Given the description of an element on the screen output the (x, y) to click on. 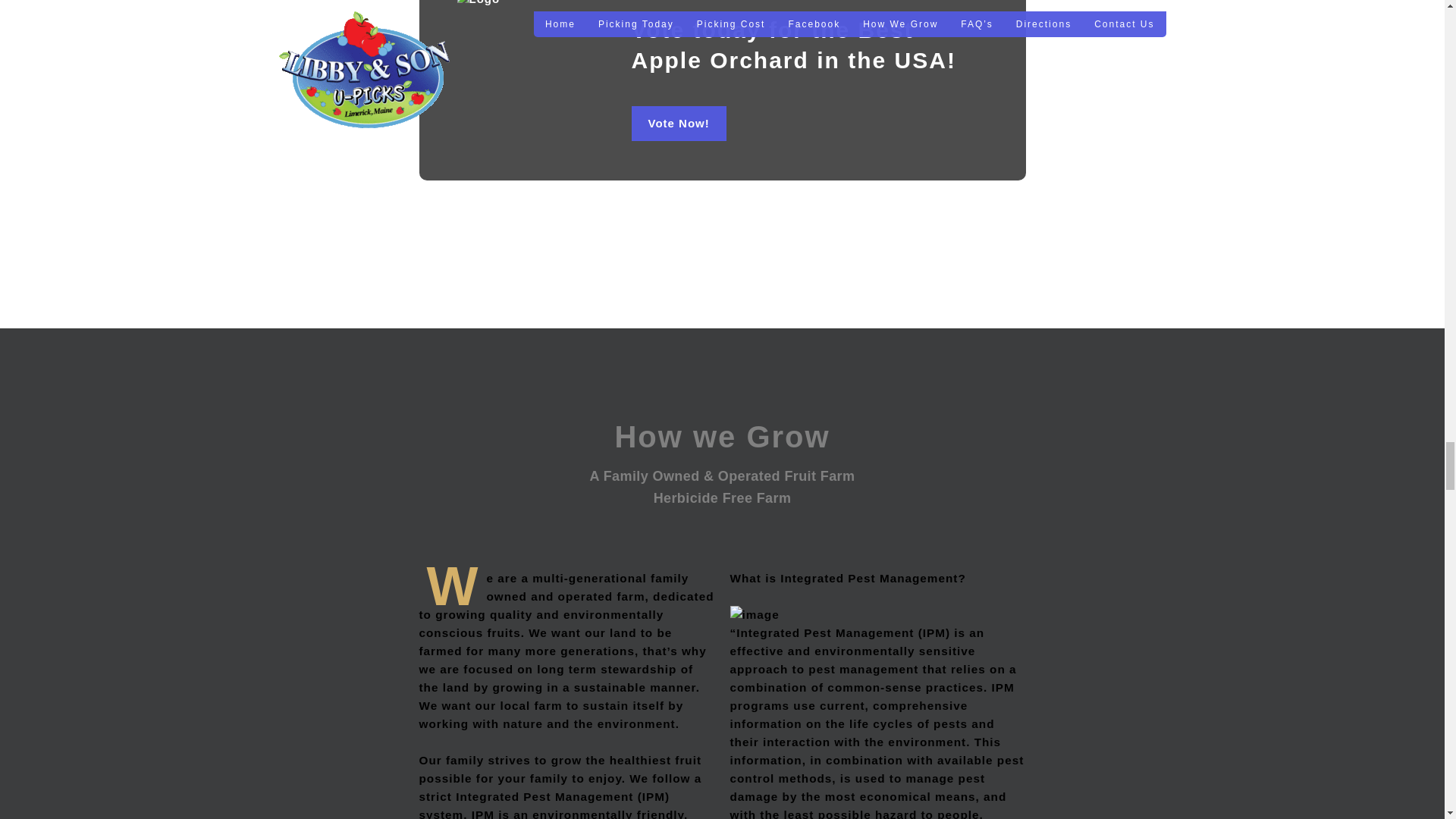
Vote Now! (677, 123)
